Given the description of an element on the screen output the (x, y) to click on. 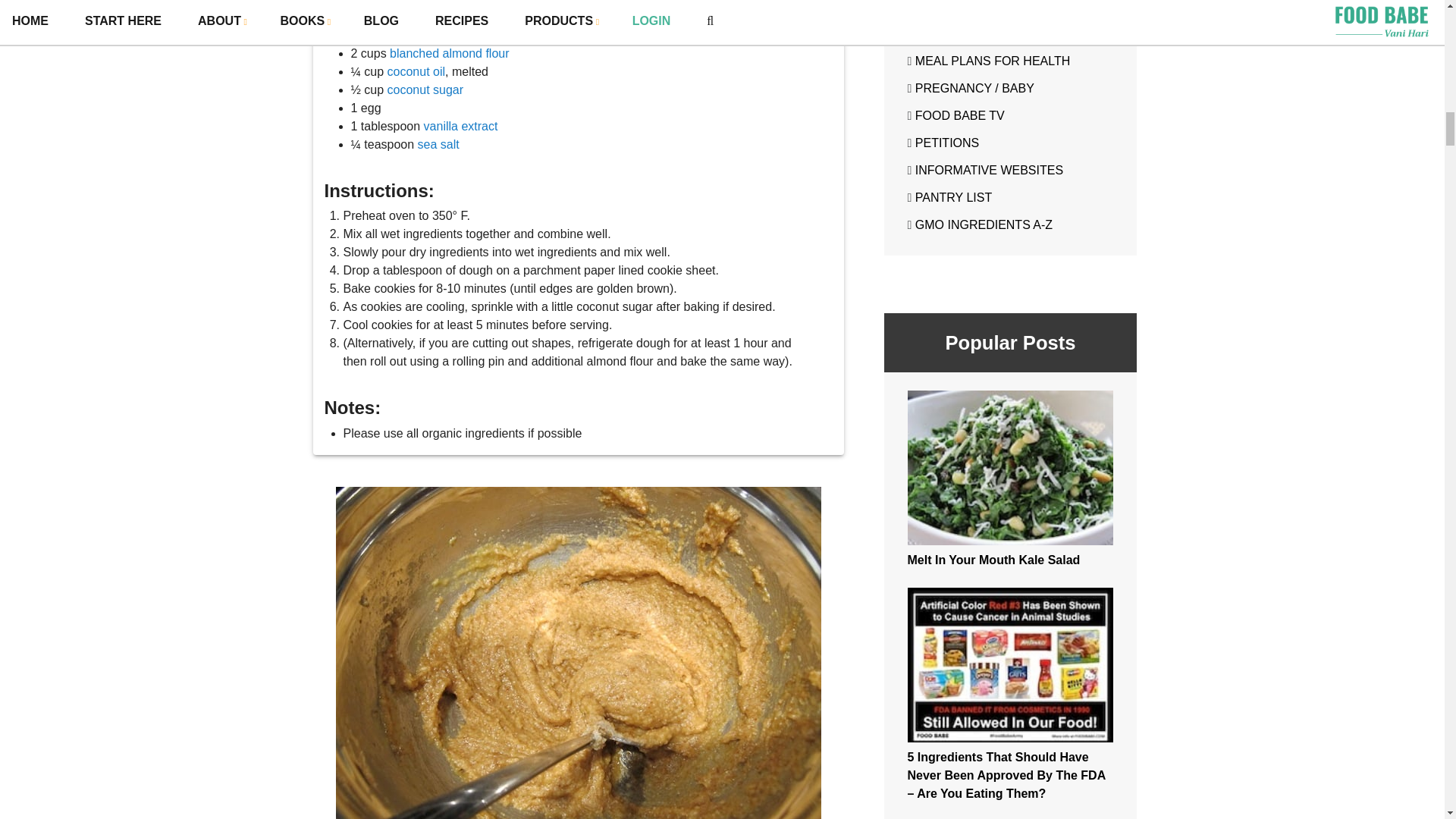
We recommend coconut sugar (425, 89)
We recommend sea salt (438, 144)
We recommend coconut oil (416, 71)
We recommend blanched almond flour (449, 52)
We recommend vanilla extract (460, 125)
